Given the description of an element on the screen output the (x, y) to click on. 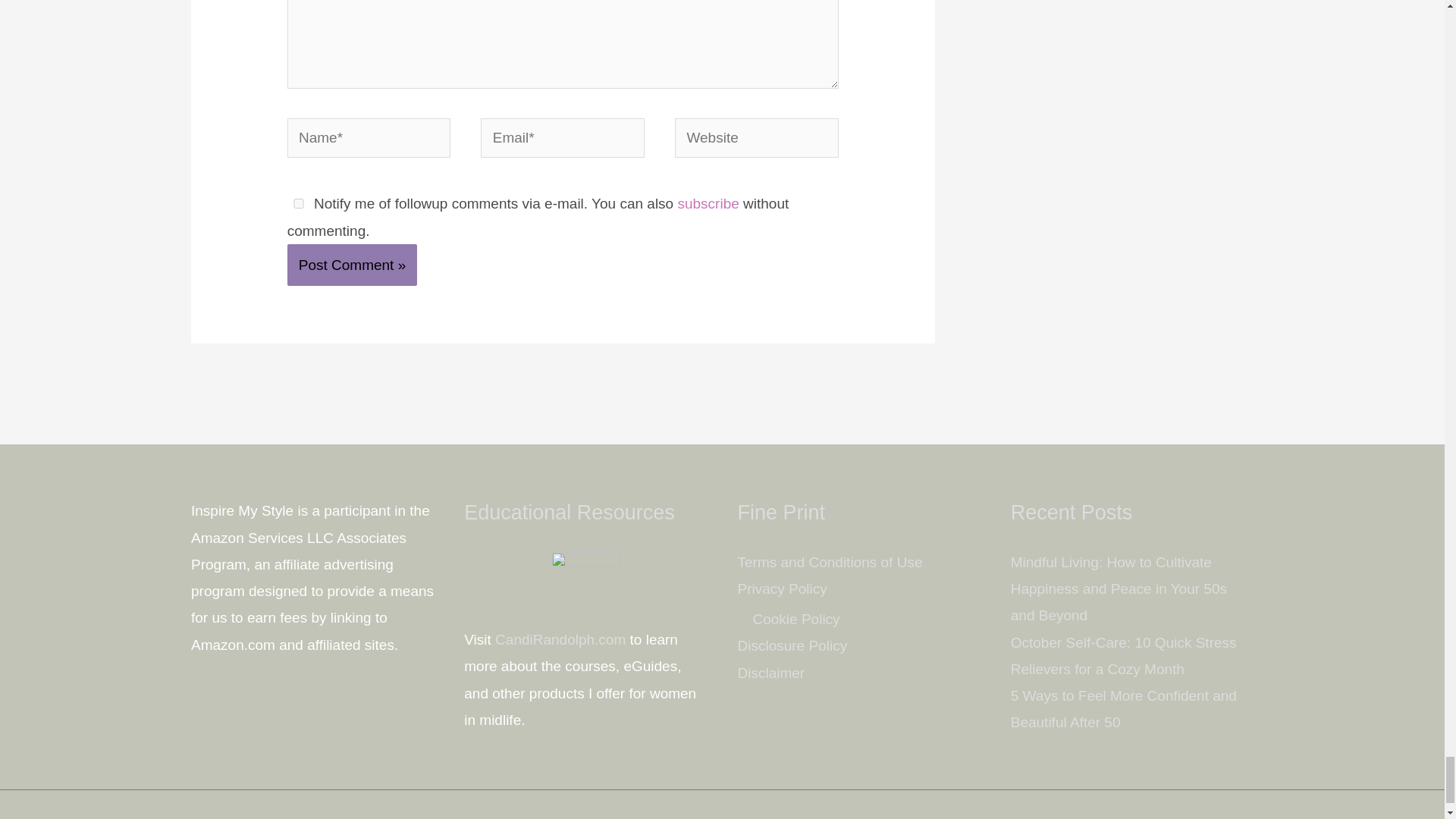
yes (298, 203)
